Given the description of an element on the screen output the (x, y) to click on. 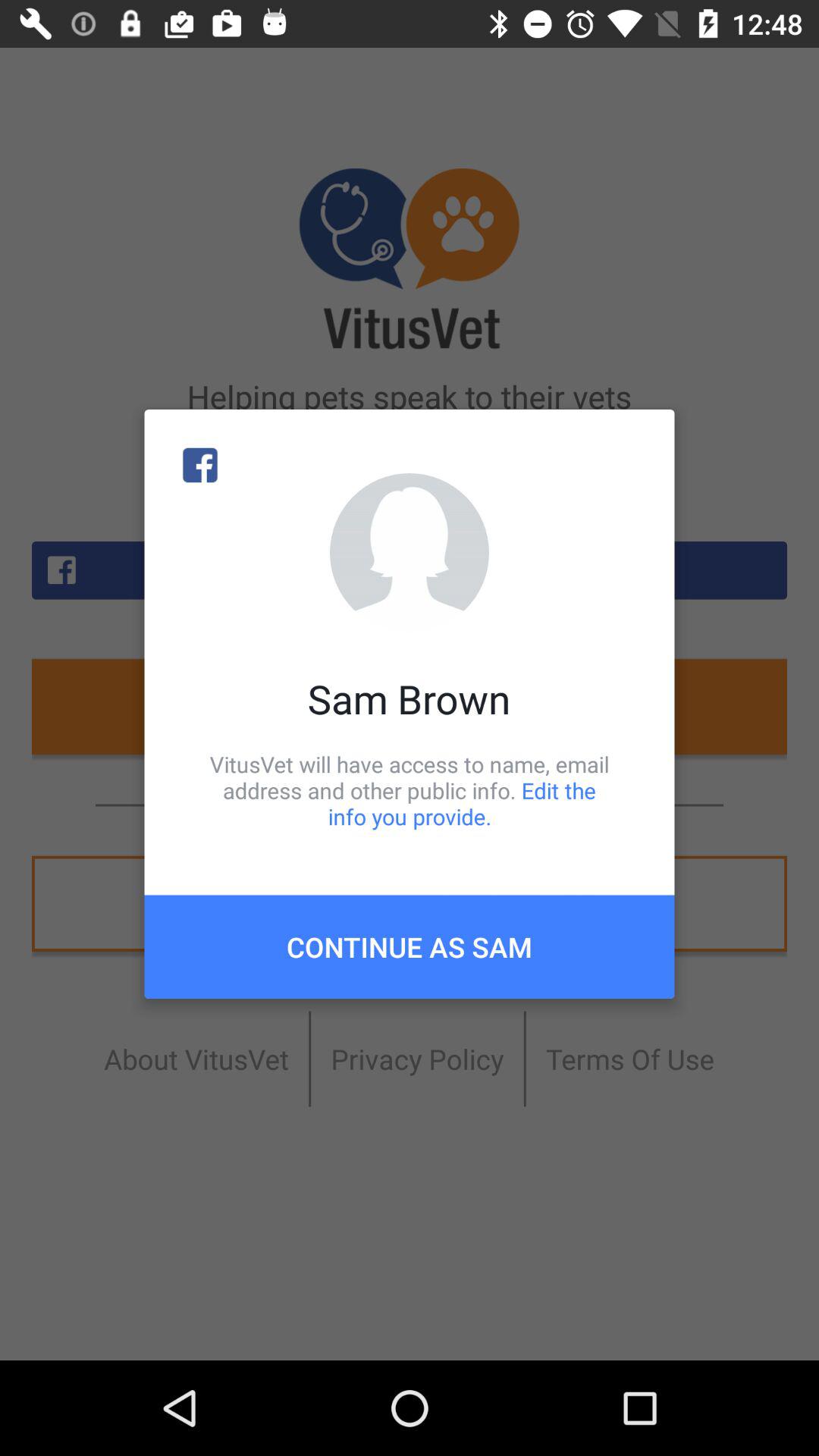
open the icon above continue as sam item (409, 790)
